Given the description of an element on the screen output the (x, y) to click on. 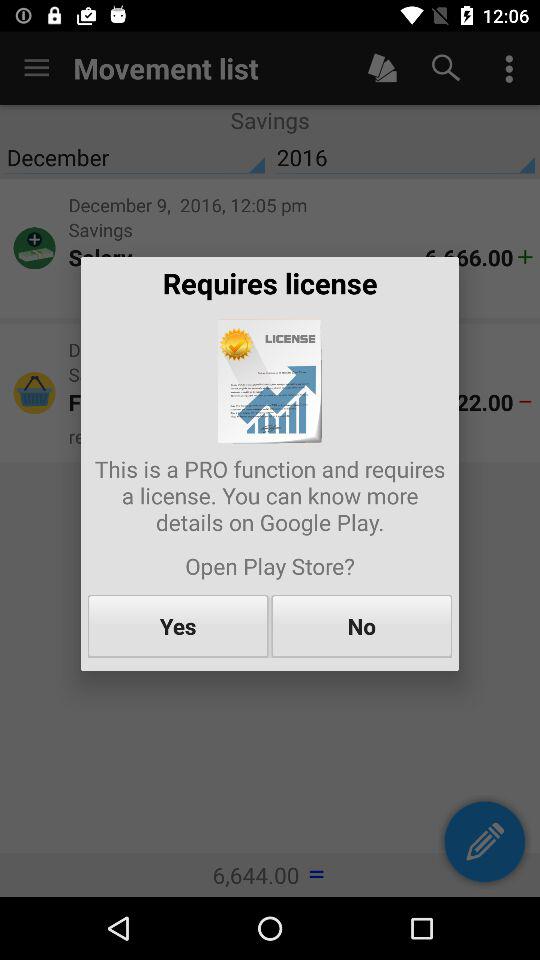
tap item to the left of no icon (177, 625)
